Given the description of an element on the screen output the (x, y) to click on. 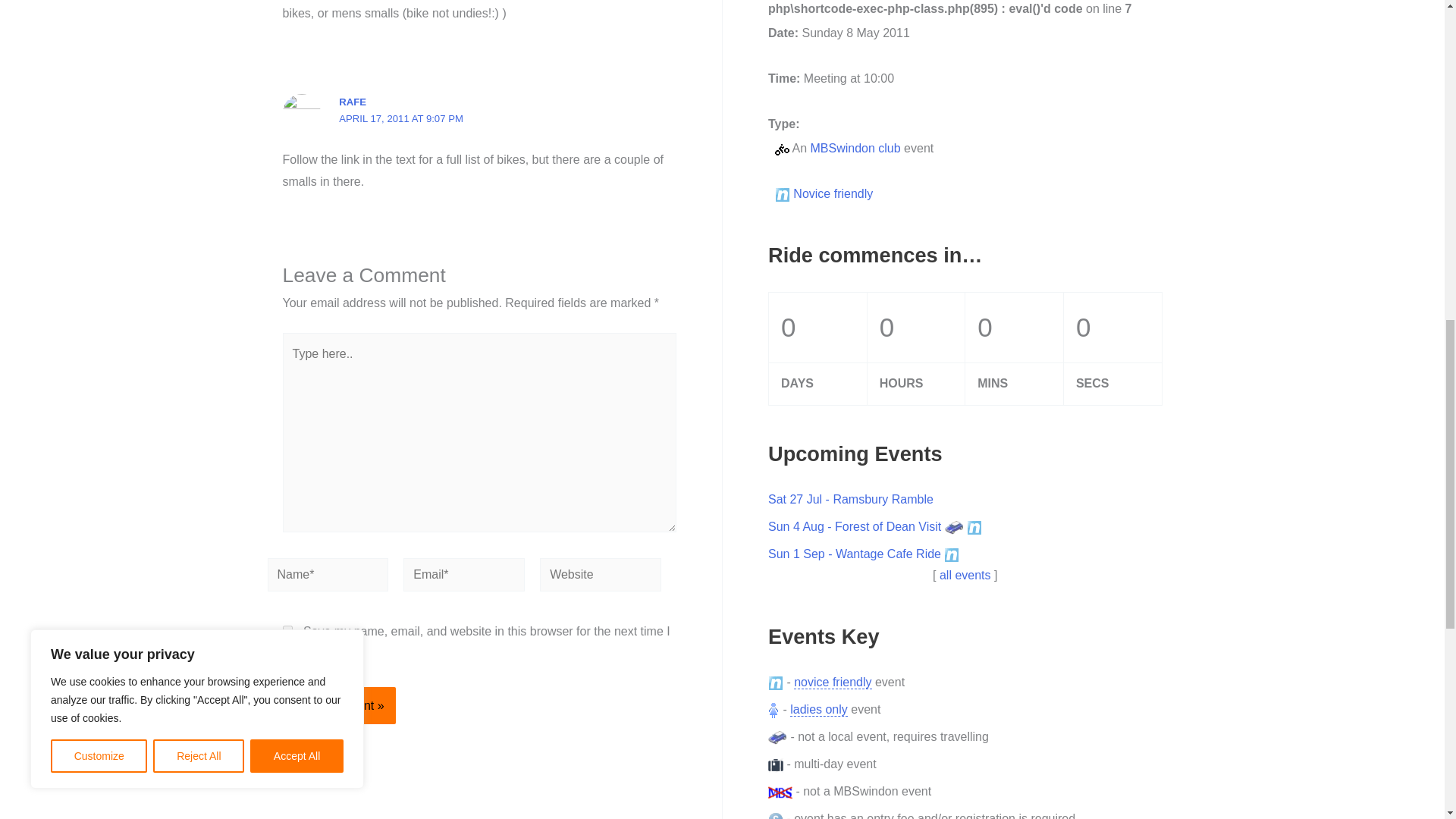
Not a local event (953, 527)
yes (287, 630)
Not a local event (777, 737)
Novice friendly (775, 683)
An MBSwindon event (781, 149)
Novice friendly event (973, 527)
Novice friendly event (951, 554)
Novice Friendly (782, 194)
